Given the description of an element on the screen output the (x, y) to click on. 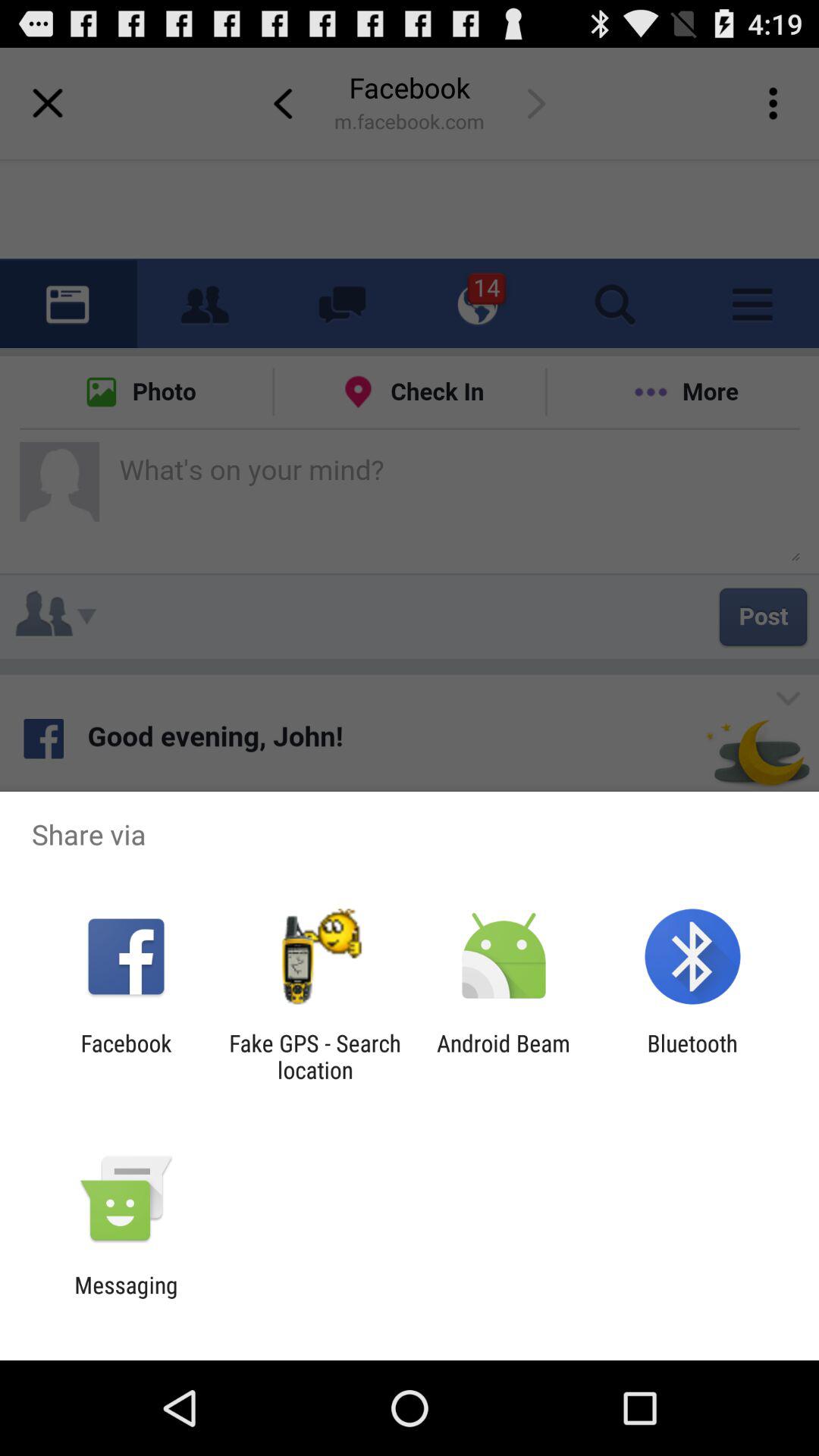
turn off fake gps search icon (314, 1056)
